Given the description of an element on the screen output the (x, y) to click on. 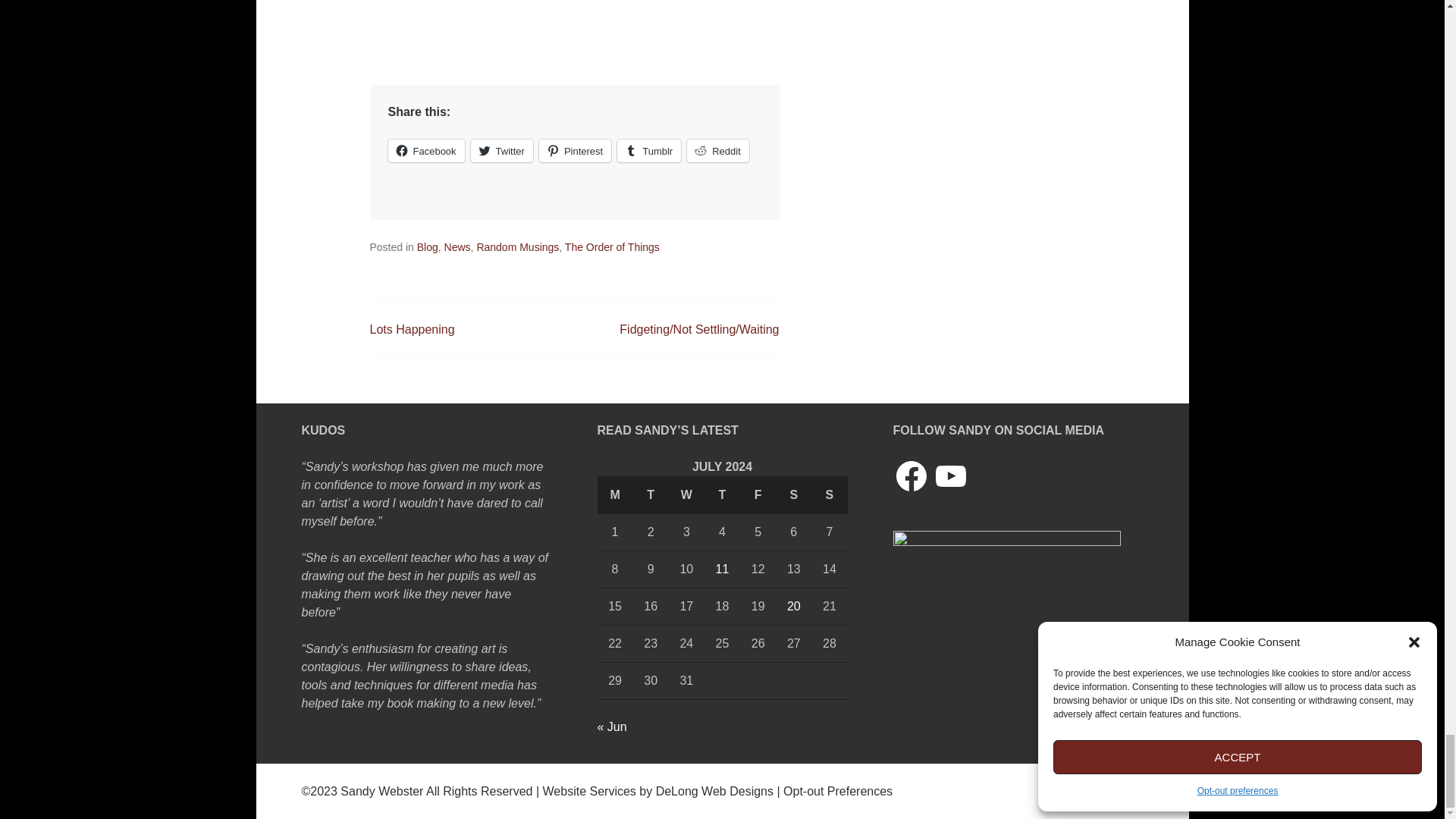
Friday (757, 494)
Click to share on Facebook (426, 150)
Twitter (501, 150)
Tuesday (650, 494)
Click to share on Pinterest (574, 150)
Tumblr (649, 150)
Click to share on Reddit (718, 150)
Pinterest (574, 150)
Click to share on Twitter (501, 150)
Reddit (718, 150)
Lots Happening (411, 328)
Blog (427, 246)
Random Musings (517, 246)
Thursday (721, 494)
Facebook (426, 150)
